Given the description of an element on the screen output the (x, y) to click on. 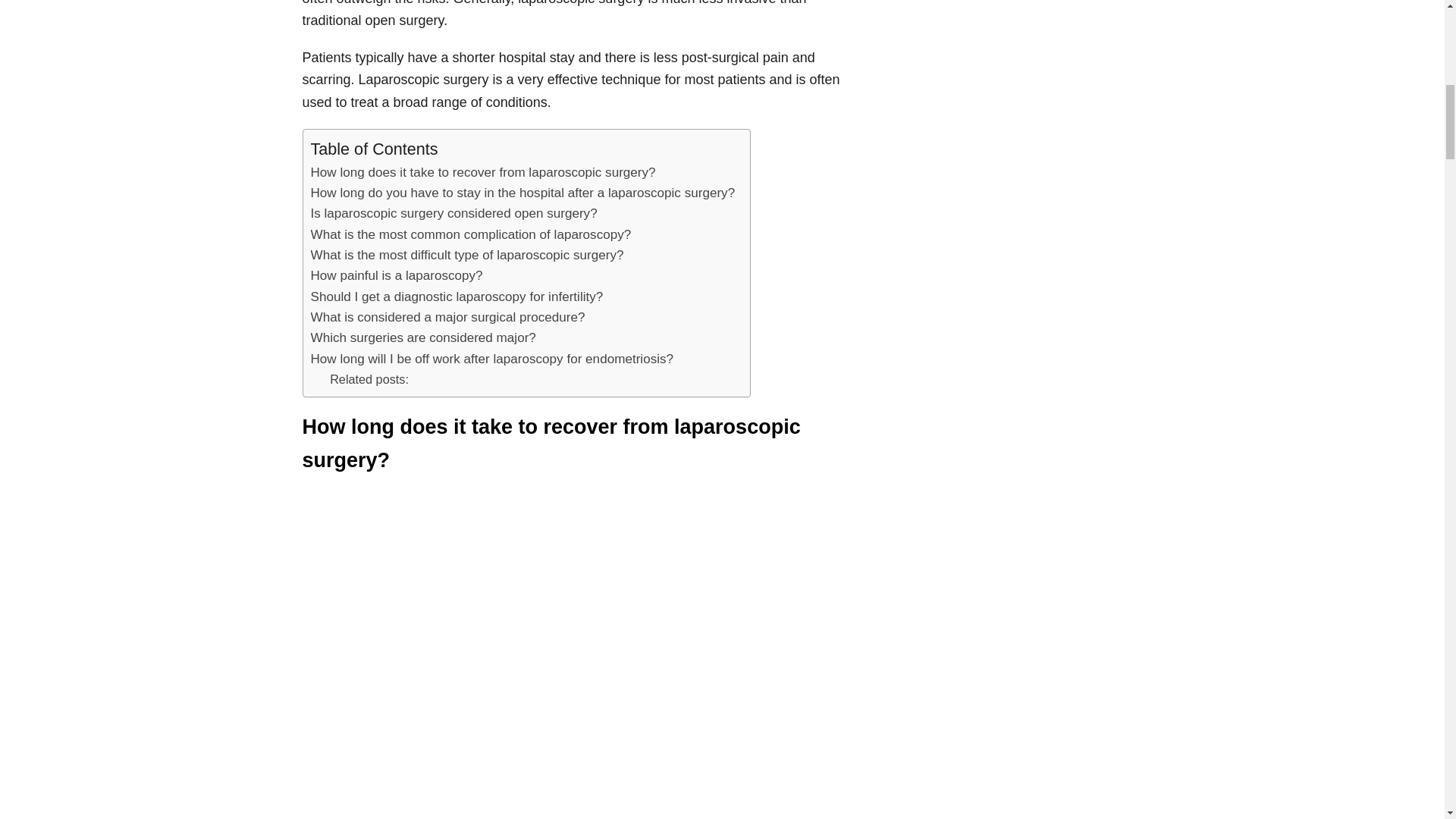
How painful is a laparoscopy? (397, 275)
What is considered a major surgical procedure? (448, 317)
Which surgeries are considered major? (423, 337)
How long does it take to recover from laparoscopic surgery? (483, 172)
What is the most difficult type of laparoscopic surgery? (467, 254)
Is laparoscopic surgery considered open surgery? (453, 213)
Related posts: (369, 379)
How long does it take to recover from laparoscopic surgery? (483, 172)
Should I get a diagnostic laparoscopy for infertility? (457, 296)
What is the most common complication of laparoscopy? (471, 234)
Should I get a diagnostic laparoscopy for infertility? (457, 296)
